Given the description of an element on the screen output the (x, y) to click on. 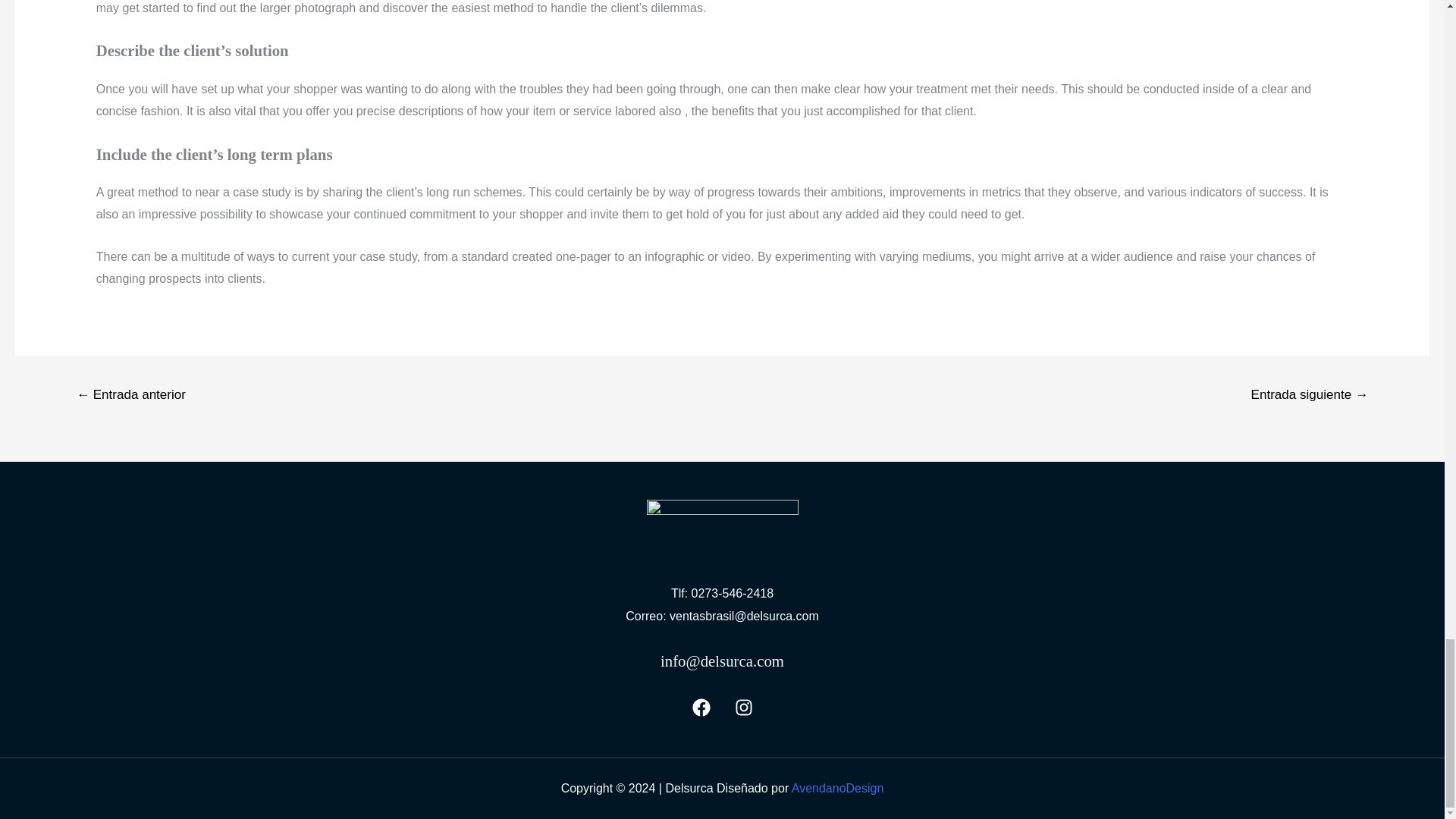
AvendanoDesign (837, 788)
